Given the description of an element on the screen output the (x, y) to click on. 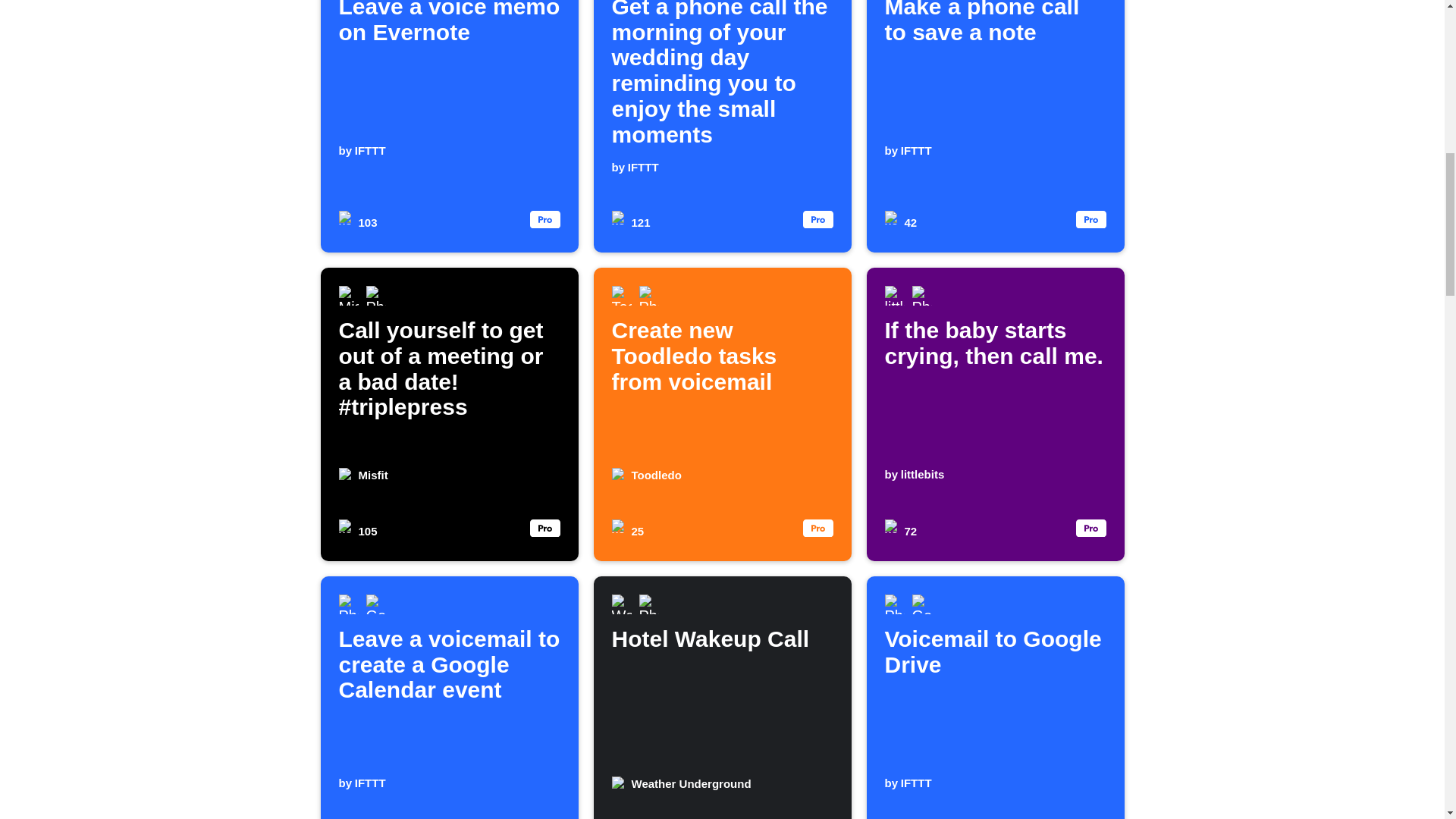
103 users enabled this Applet (995, 126)
Applet has pro features (449, 126)
